Given the description of an element on the screen output the (x, y) to click on. 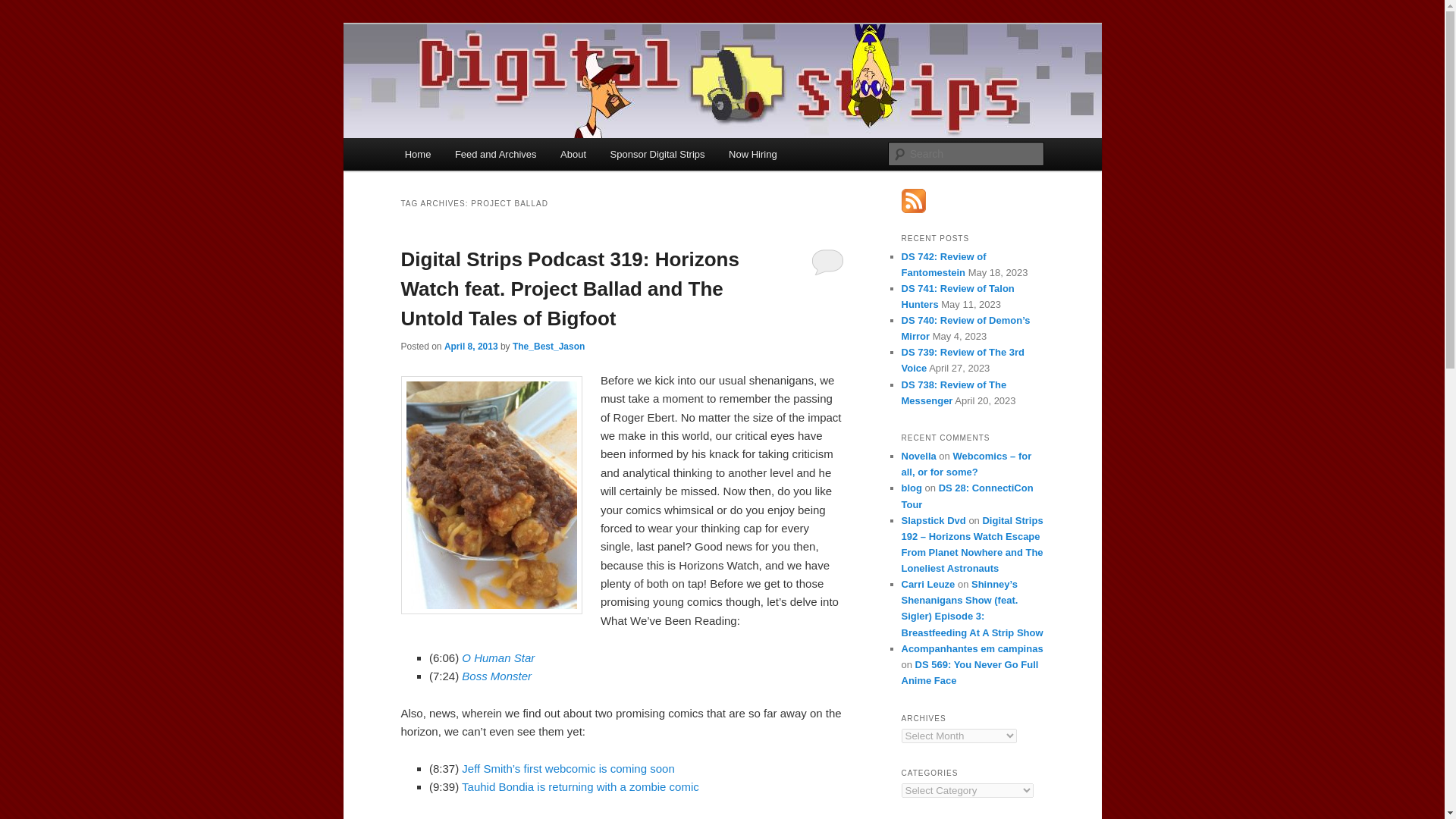
Boss Monster (496, 675)
Home (417, 154)
Tauhid Bondia is returning with a zombie comic (579, 786)
8:00 am (470, 346)
Now Hiring (752, 154)
About (572, 154)
Feed and Archives (495, 154)
April 8, 2013 (470, 346)
Search (24, 8)
O Human Star (497, 656)
Sponsor Digital Strips (657, 154)
Digital Strips: The Webcomics Podcast (611, 78)
